Given the description of an element on the screen output the (x, y) to click on. 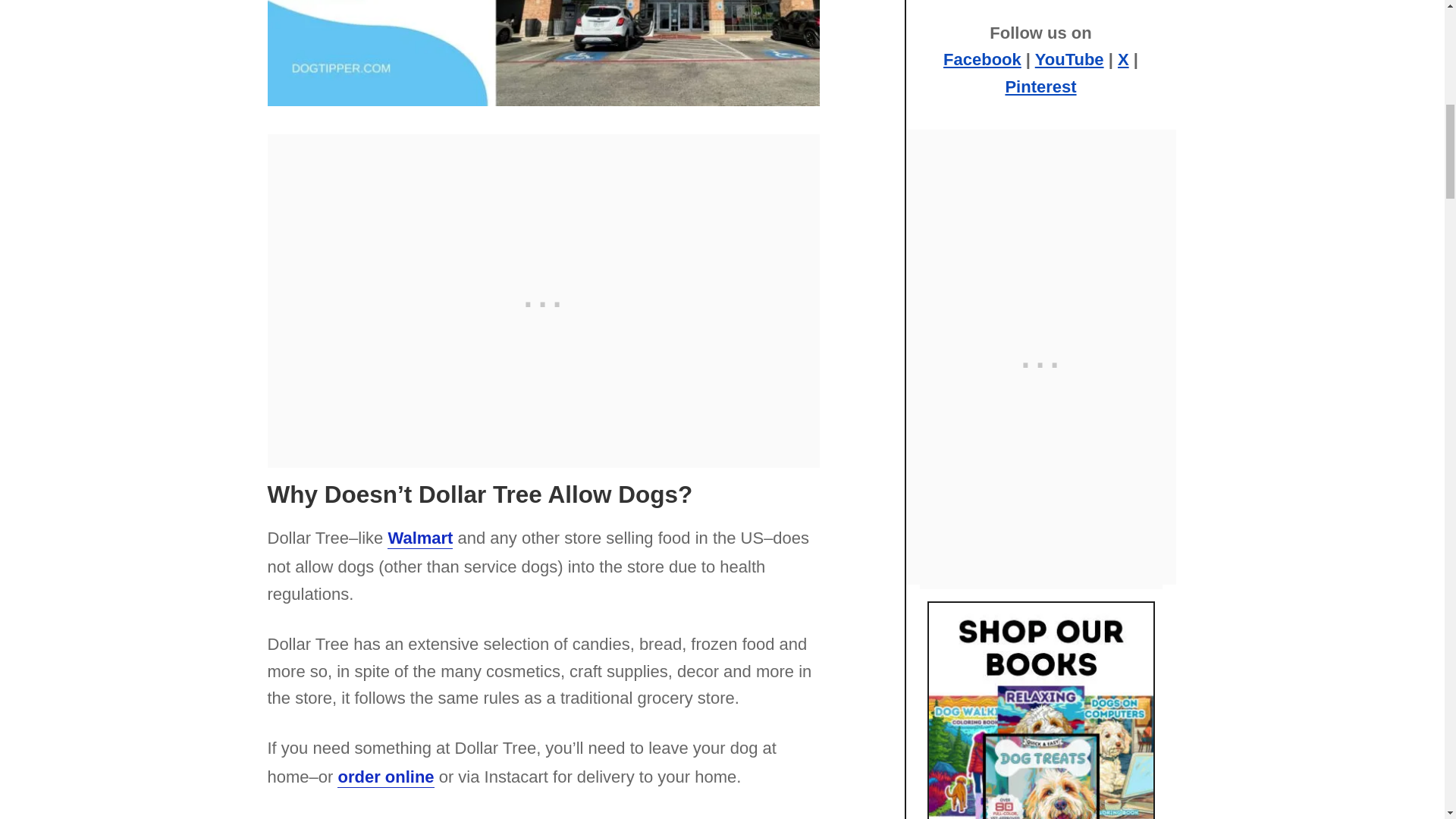
Walmart (419, 538)
order online (385, 777)
